Given the description of an element on the screen output the (x, y) to click on. 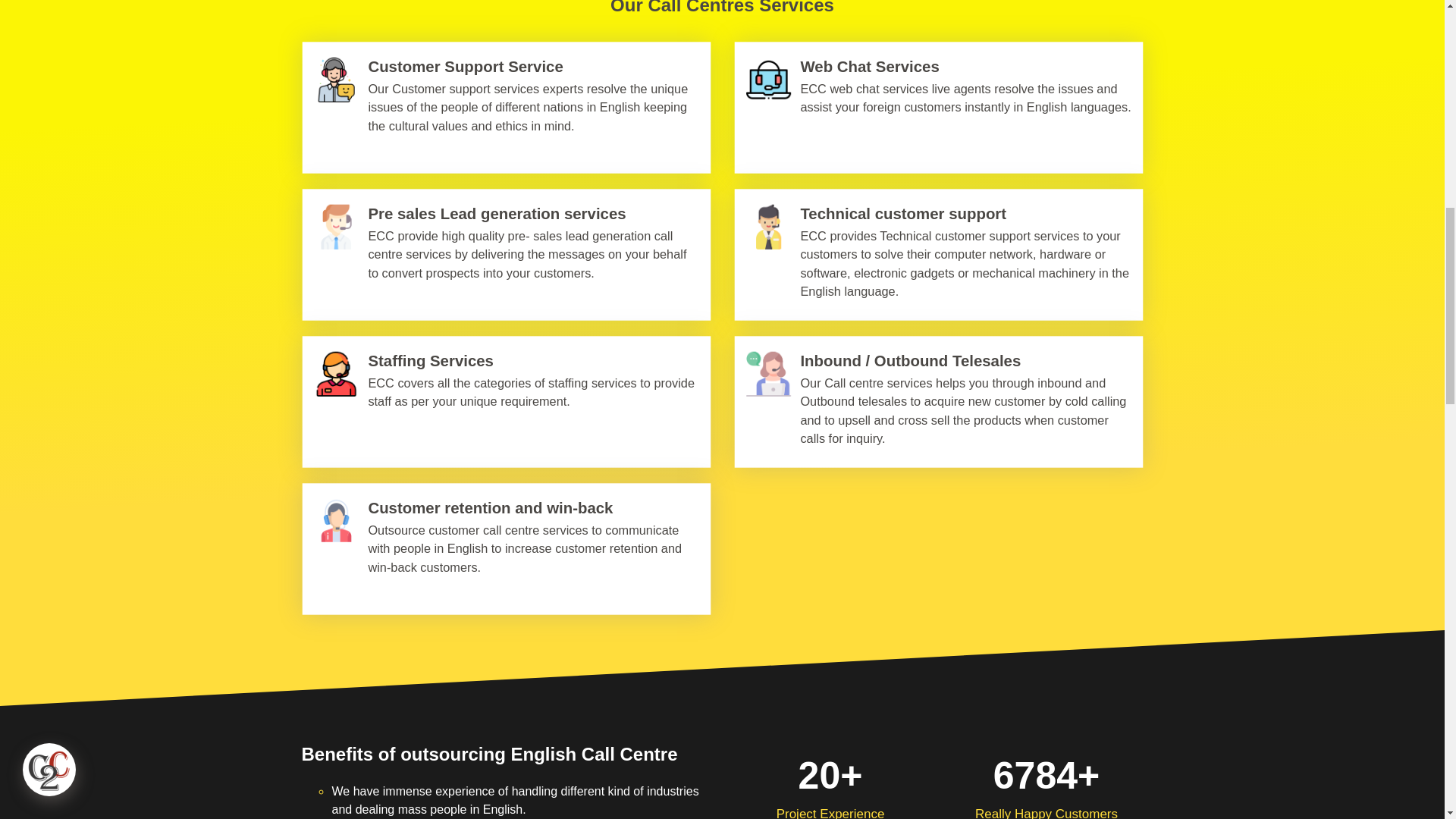
Customer Support Service (502, 66)
